Given the description of an element on the screen output the (x, y) to click on. 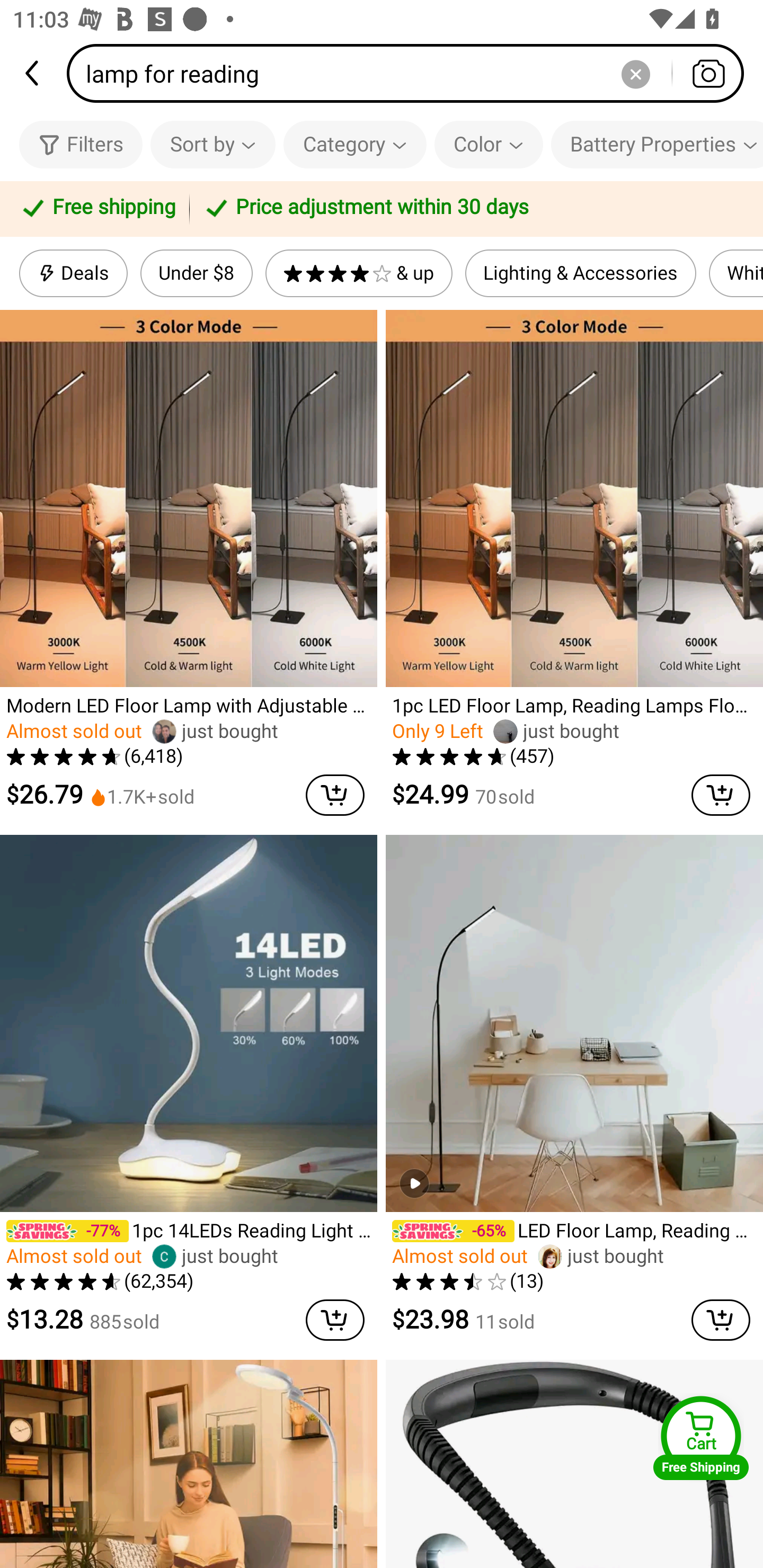
back (33, 72)
lamp for reading (411, 73)
Delete search history (635, 73)
Search by photo (708, 73)
Filters (80, 143)
Sort by (212, 143)
Category (354, 143)
Color (488, 143)
Battery Properties (656, 143)
Free shipping (97, 208)
Price adjustment within 30 days (472, 208)
Deals (73, 273)
Under $8 (196, 273)
& up (358, 273)
Lighting & Accessories (580, 273)
cart delete (334, 794)
cart delete (720, 794)
cart delete (334, 1319)
cart delete (720, 1319)
Cart Free Shipping Cart (701, 1437)
